Given the description of an element on the screen output the (x, y) to click on. 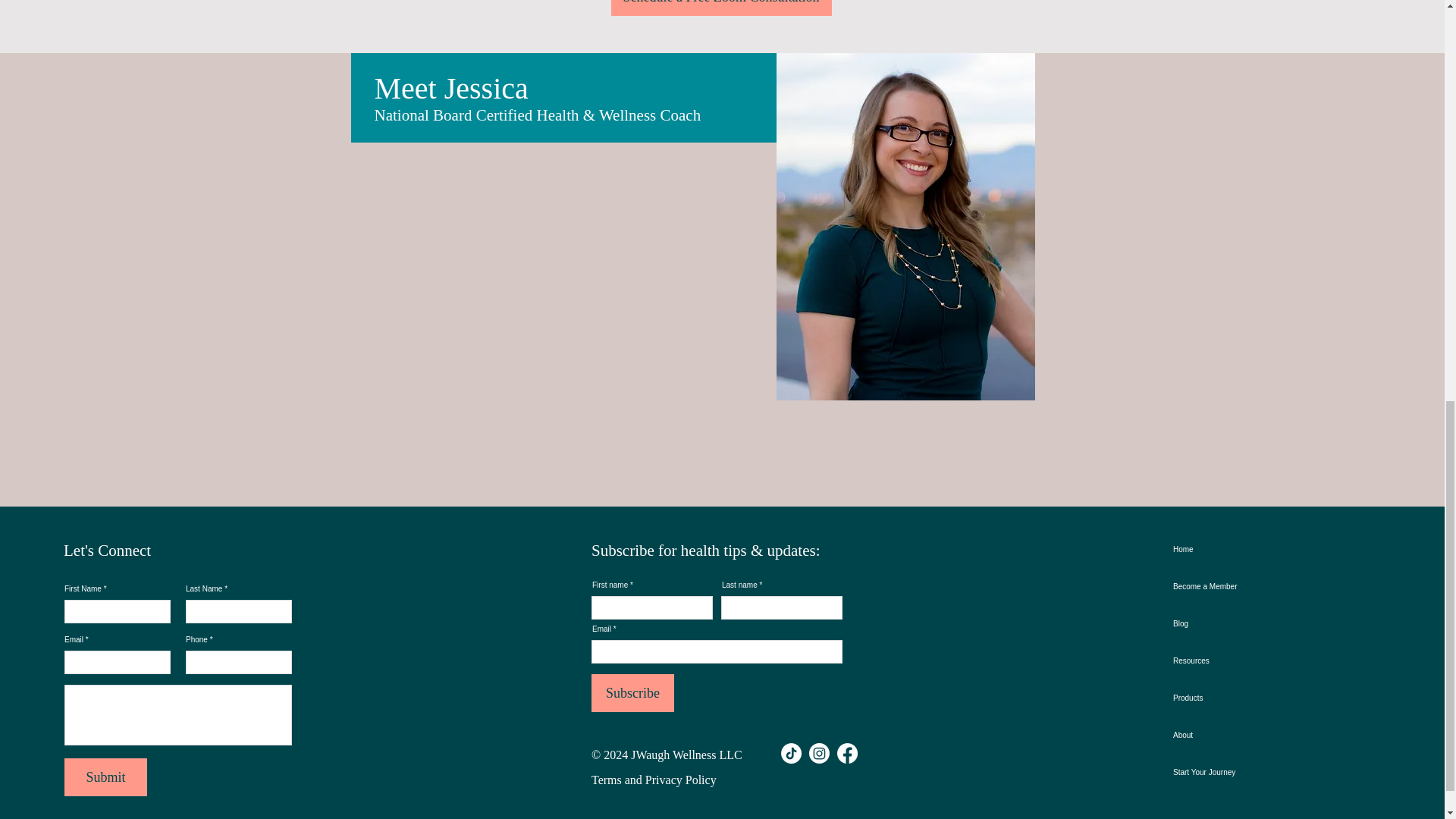
Home (1226, 549)
Products (1226, 697)
Resources (1226, 660)
Terms and Privacy Policy (653, 779)
Blog (1226, 623)
Submit (105, 777)
Schedule a Free Zoom Consultation (721, 7)
Become a Member (1226, 586)
Subscribe (632, 692)
